Given the description of an element on the screen output the (x, y) to click on. 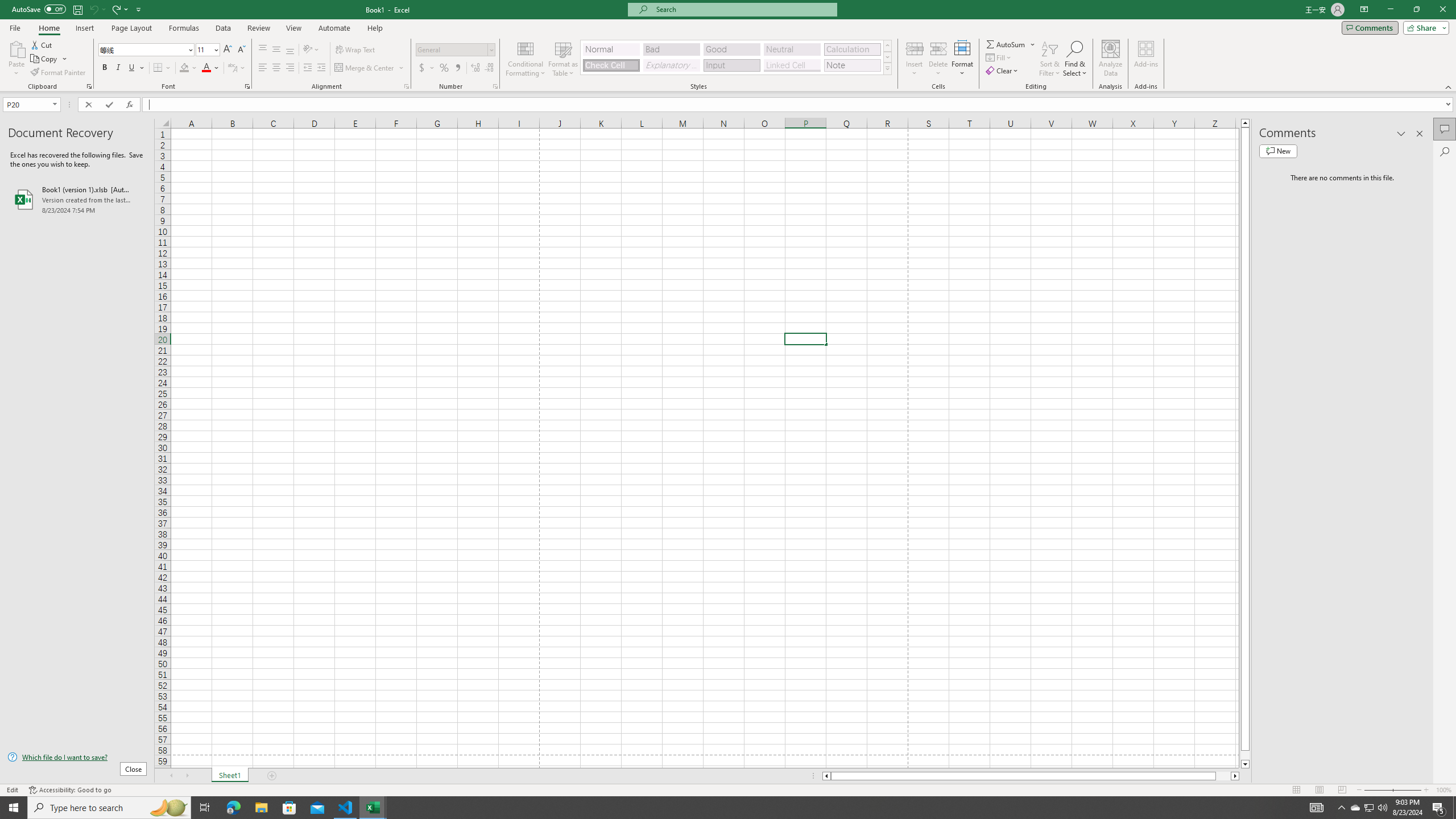
Formulas (184, 28)
Top Align (262, 49)
Cell Styles (887, 68)
Collapse the Ribbon (1448, 86)
Check Cell (611, 65)
Percent Style (443, 67)
Cut (42, 44)
Comments (1369, 27)
Fill Color RGB(255, 255, 0) (183, 67)
Italic (118, 67)
Font Color RGB(255, 0, 0) (206, 67)
Close pane (1419, 133)
Copy (49, 58)
